Given the description of an element on the screen output the (x, y) to click on. 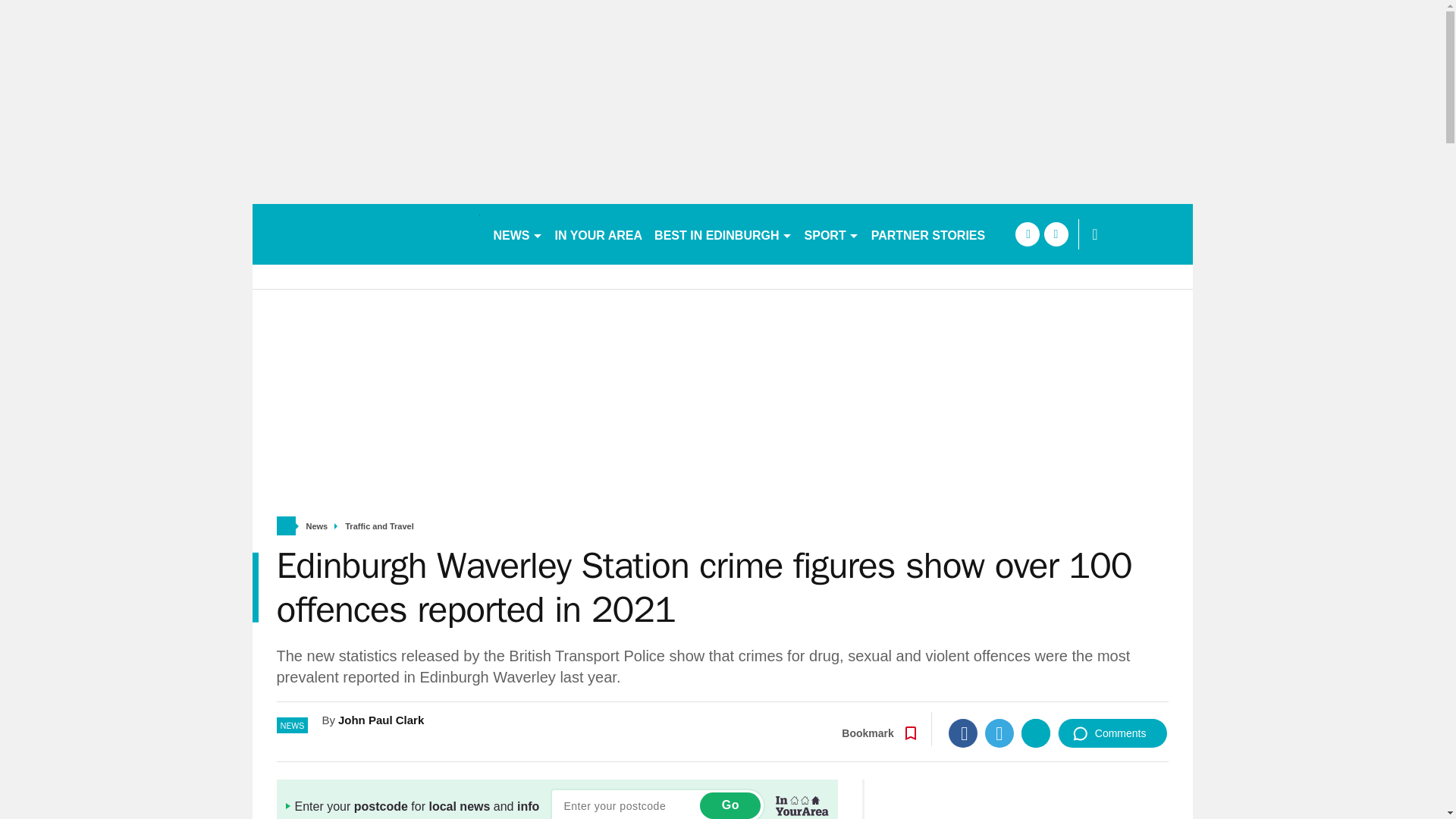
twitter (1055, 233)
Facebook (962, 733)
PARTNER STORIES (927, 233)
IN YOUR AREA (598, 233)
BEST IN EDINBURGH (722, 233)
Go (730, 805)
NEWS (517, 233)
edinburghlive (365, 233)
facebook (1026, 233)
SPORT (830, 233)
